Given the description of an element on the screen output the (x, y) to click on. 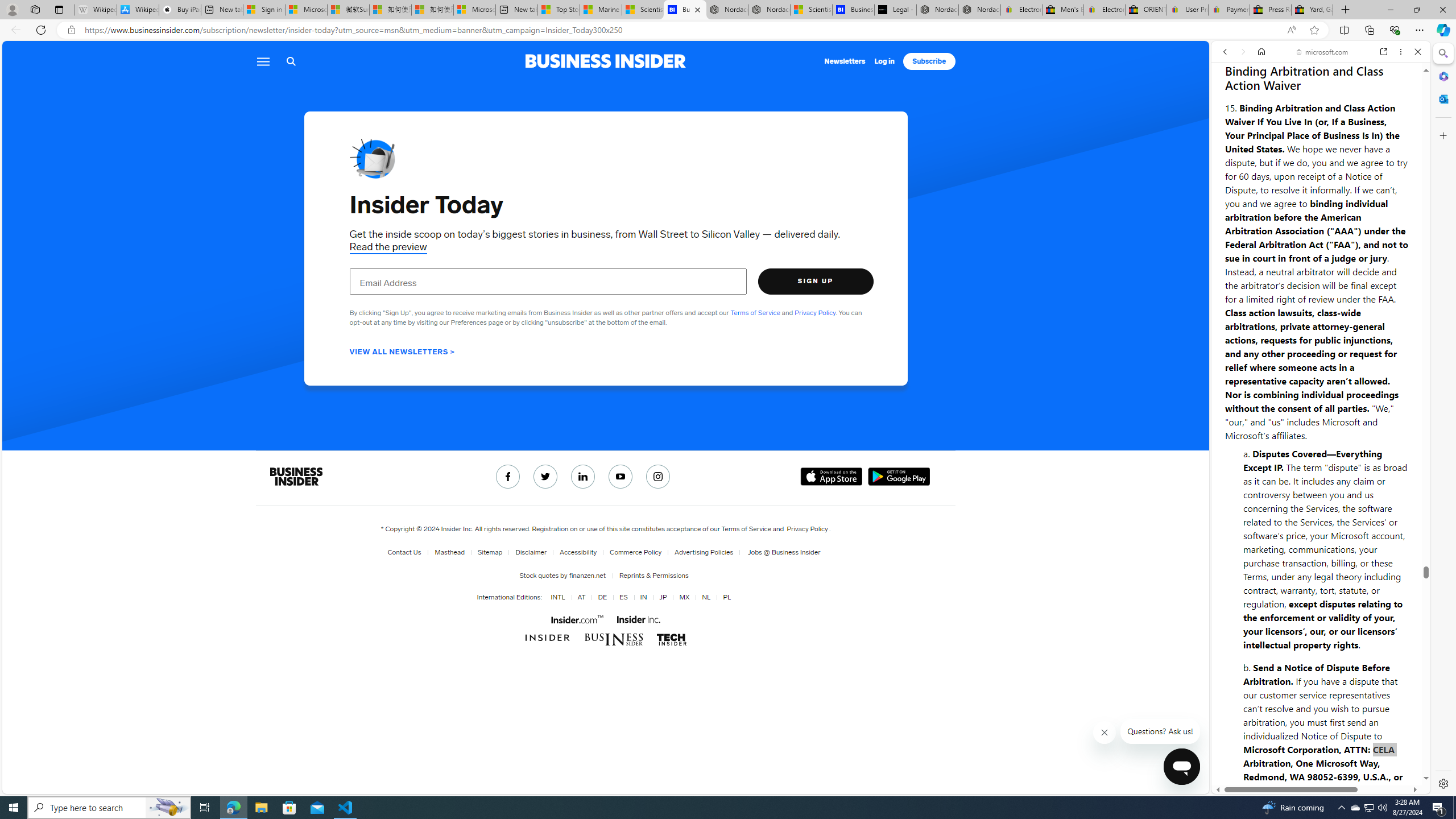
Insider.com TM Logo (576, 619)
Click to visit Business Insider (547, 637)
IN (643, 597)
SIGN UP (815, 280)
INTL (557, 597)
DE (602, 597)
JP (660, 597)
INTL (555, 597)
Minimize Search pane (1442, 53)
Stock quotes byfinanzen.net (564, 575)
